Given the description of an element on the screen output the (x, y) to click on. 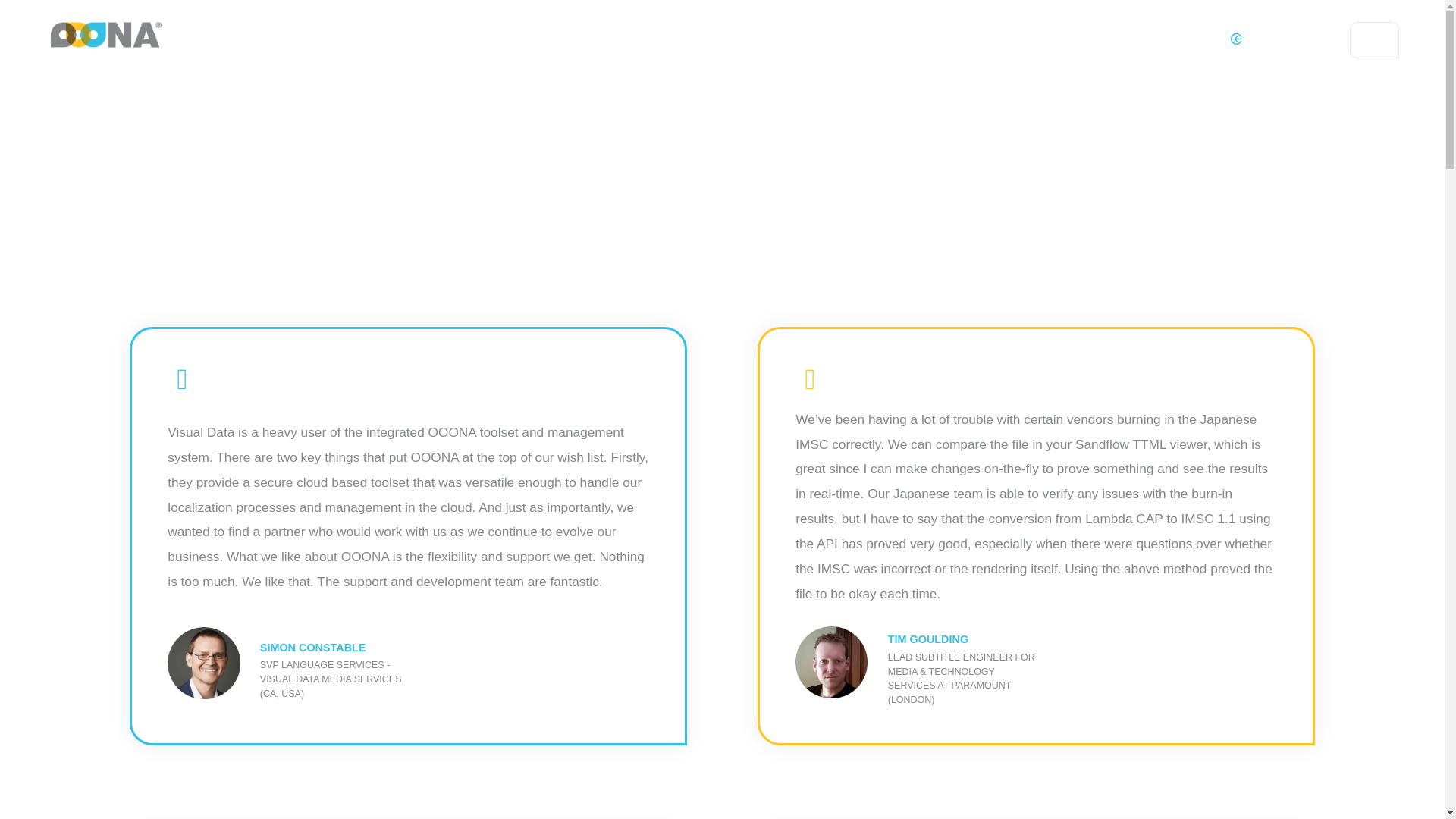
EDU (587, 39)
CONTACT US (914, 39)
TRANSLATORS' ZONE (477, 39)
SOLUTIONS (323, 39)
SECURITY (666, 39)
